Given the description of an element on the screen output the (x, y) to click on. 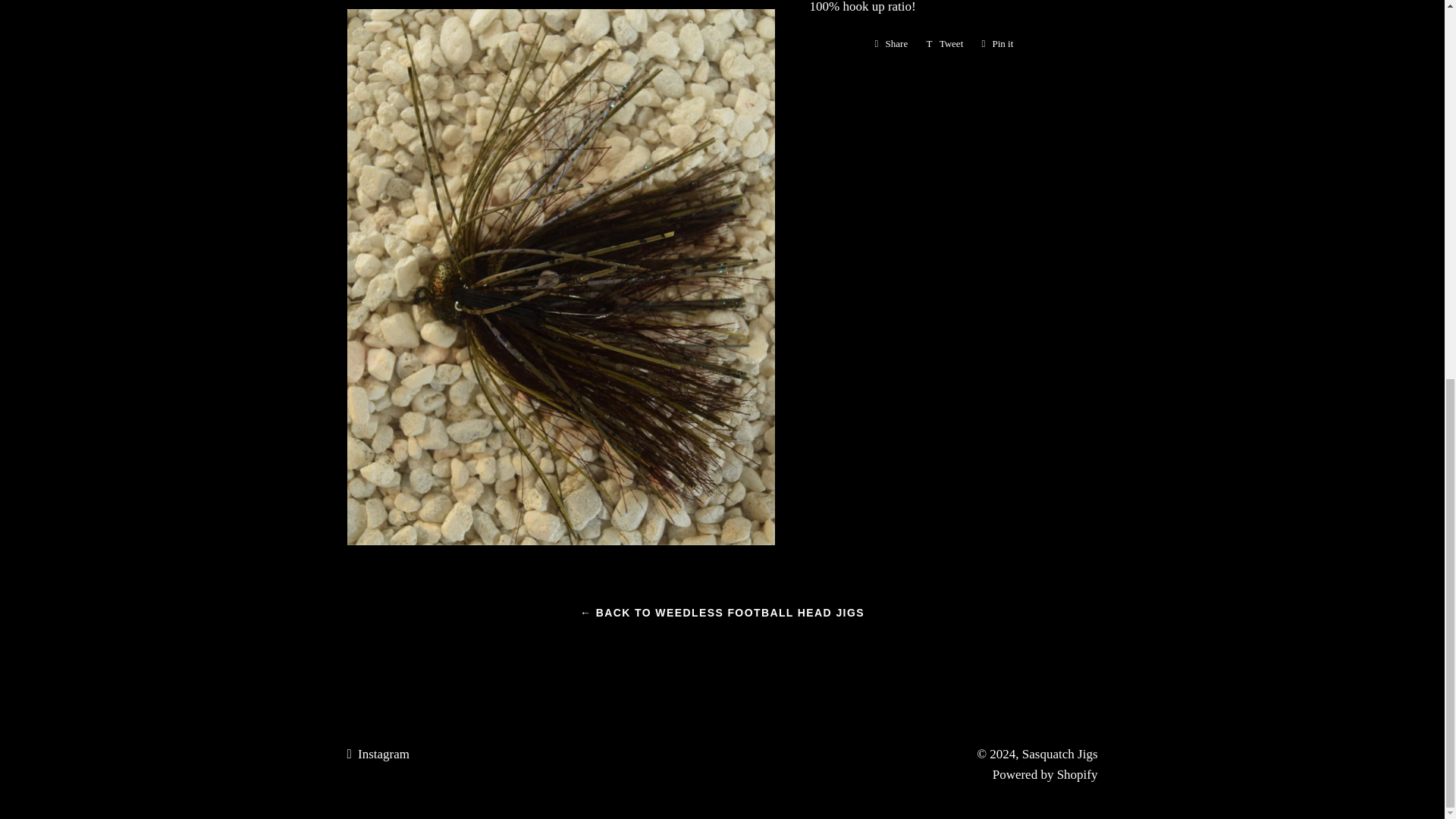
Tweet on Twitter (944, 43)
Sasquatch Jigs (1059, 753)
Share on Facebook (891, 43)
Instagram (891, 43)
Powered by Shopify (378, 753)
Sasquatch Jigs on Instagram (1044, 774)
Pin on Pinterest (997, 43)
